Given the description of an element on the screen output the (x, y) to click on. 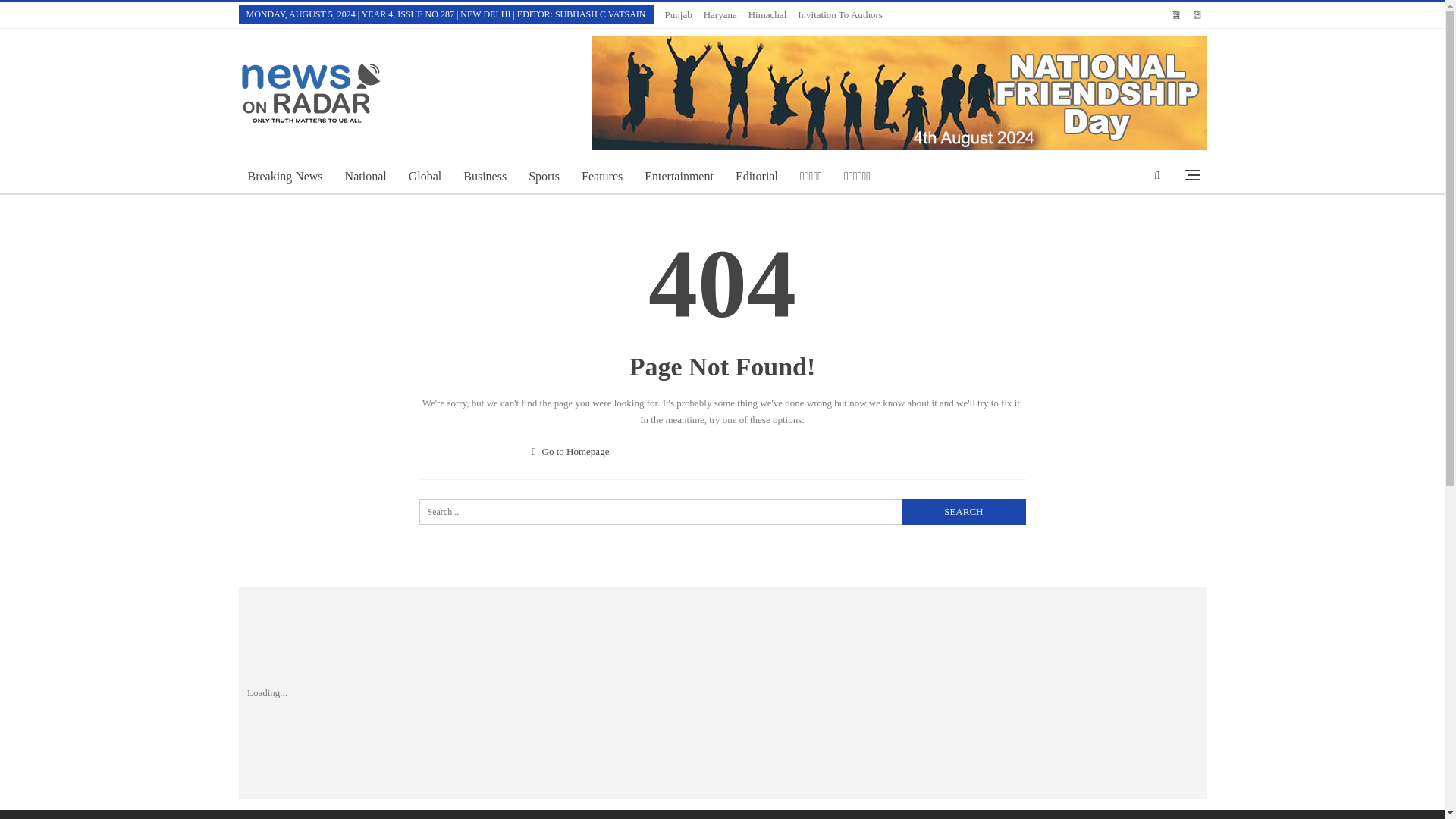
Punjab (686, 14)
Search (963, 466)
Breaking News (284, 131)
Editorial (756, 131)
Invitation To Authors (848, 14)
Search (963, 466)
Search for: (722, 466)
Global (818, 803)
Go to Homepage (424, 131)
Haryana (571, 405)
Himachal (728, 14)
Features (775, 14)
Entertainment (601, 131)
Search (678, 131)
